Given the description of an element on the screen output the (x, y) to click on. 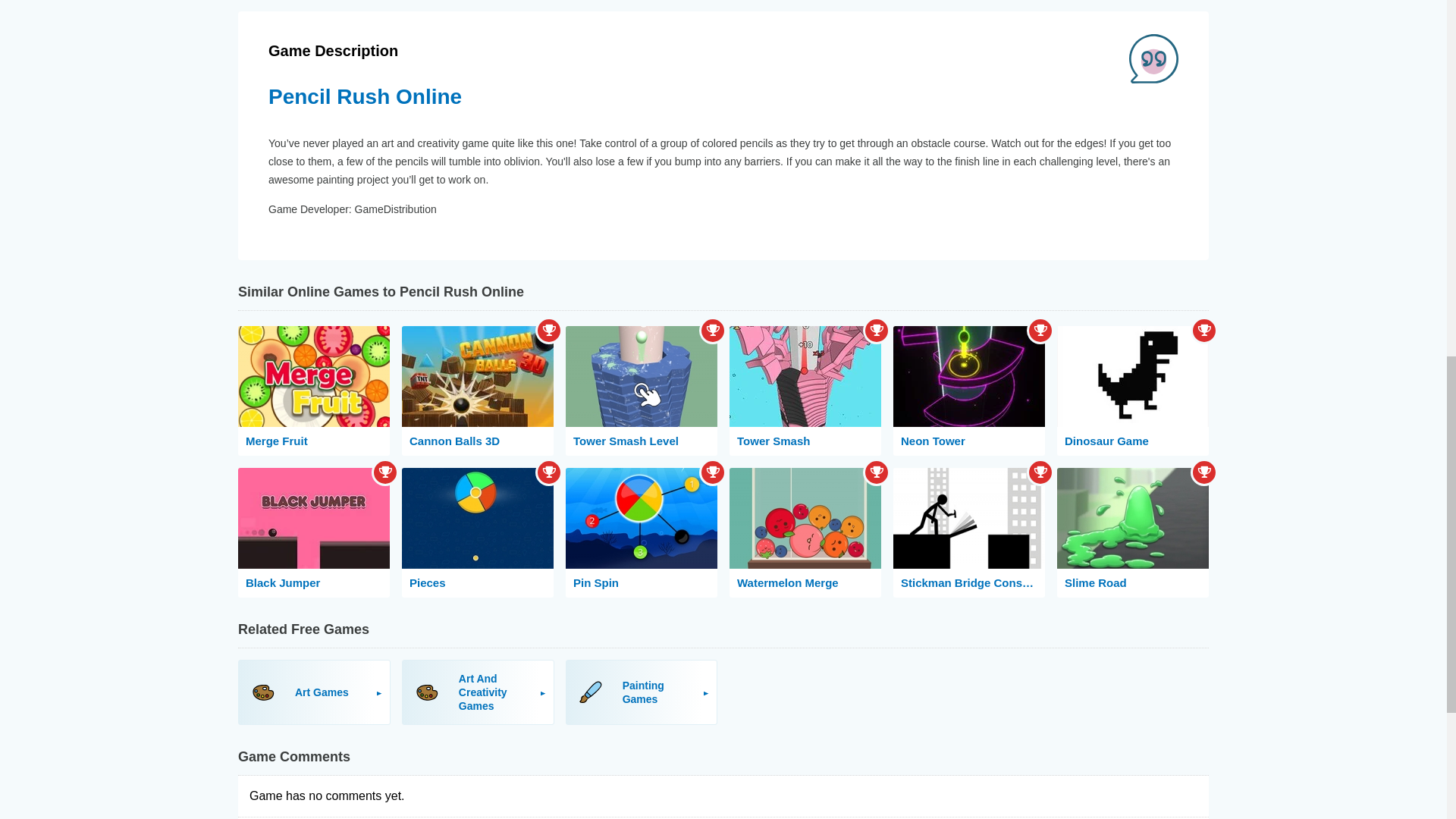
Tower Smash Level (641, 390)
Neon Tower (969, 390)
Merge Fruit (314, 390)
Dinosaur Game (1132, 390)
Art Games (314, 692)
Painting Games (641, 692)
Black Jumper (314, 532)
Cannon Balls 3D (477, 390)
Pieces (477, 532)
Art And Creativity Games (477, 692)
Pin Spin (641, 532)
Tower Smash (804, 390)
Watermelon Merge (804, 532)
